Given the description of an element on the screen output the (x, y) to click on. 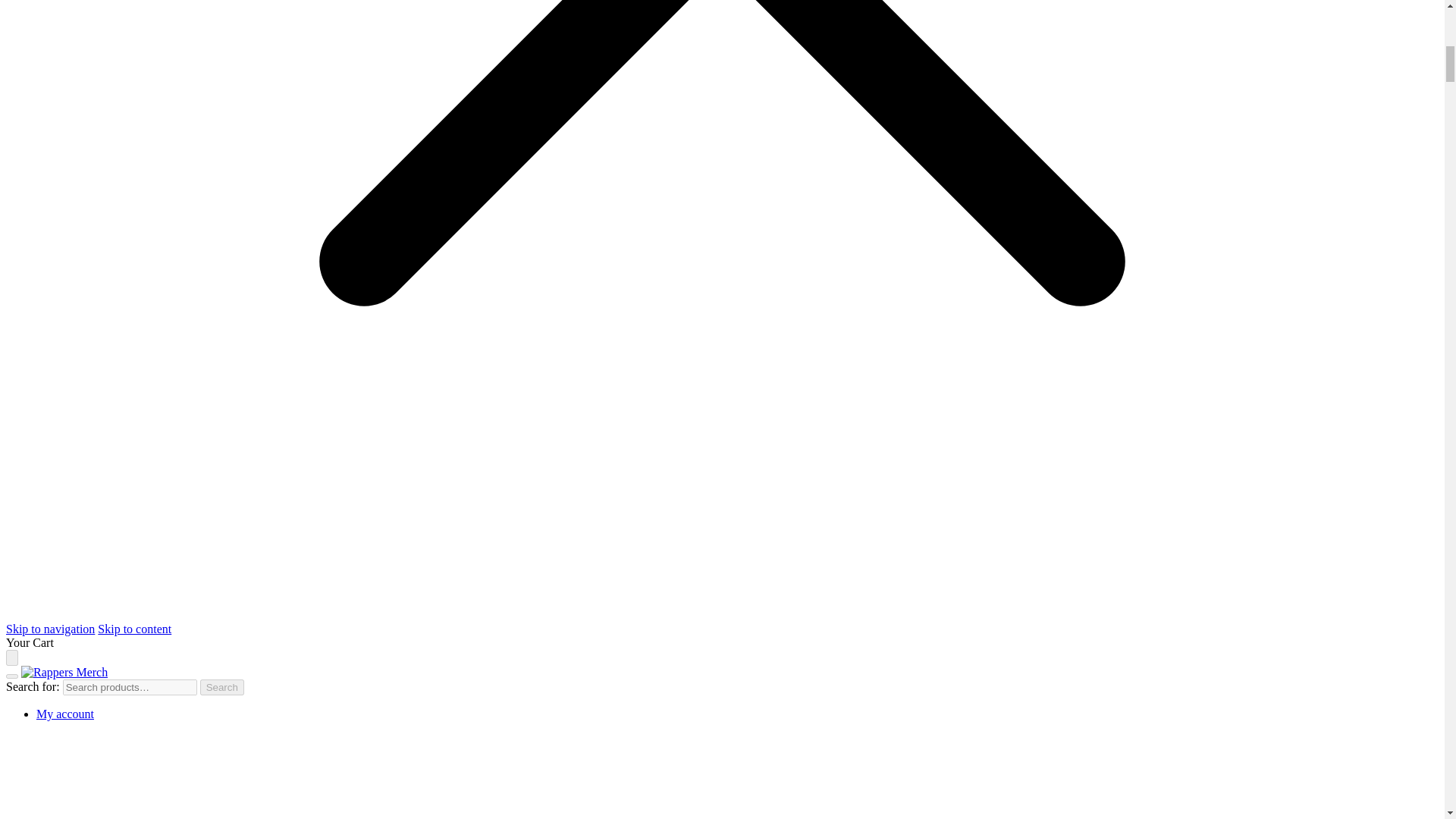
Skip to navigation (49, 628)
Search (222, 687)
Skip to content (134, 628)
